Given the description of an element on the screen output the (x, y) to click on. 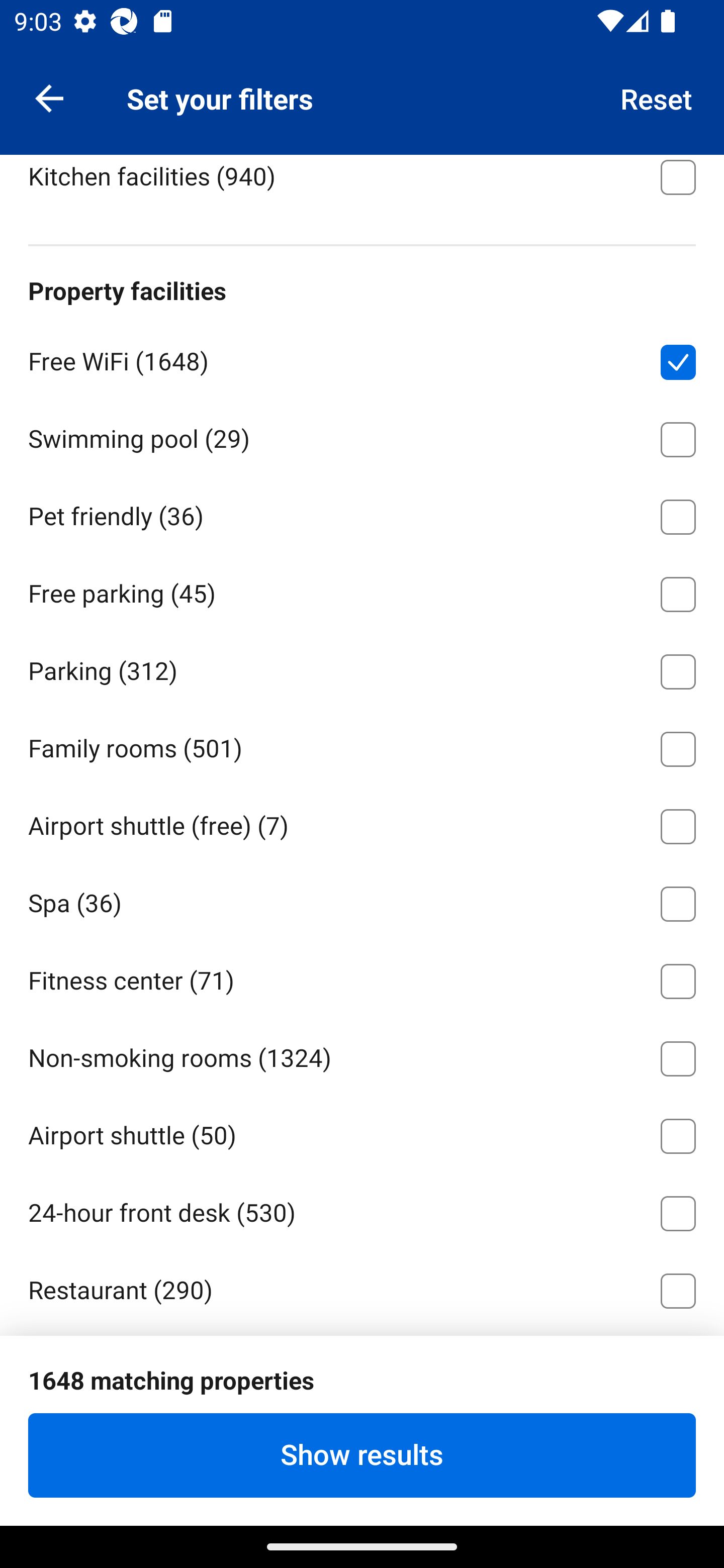
Navigate up (49, 97)
Breakfast & dinner included ⁦(9) (361, 96)
Reset (656, 97)
Kitchen facilities ⁦(940) (361, 185)
Free WiFi ⁦(1648) (361, 358)
Swimming pool ⁦(29) (361, 436)
Pet friendly ⁦(36) (361, 513)
Free parking ⁦(45) (361, 590)
Parking ⁦(312) (361, 668)
Family rooms ⁦(501) (361, 745)
Airport shuttle (free) ⁦(7) (361, 823)
Spa ⁦(36) (361, 900)
Fitness center ⁦(71) (361, 977)
Non-smoking rooms ⁦(1324) (361, 1055)
Airport shuttle ⁦(50) (361, 1132)
24-hour front desk ⁦(530) (361, 1209)
Restaurant ⁦(290) (361, 1287)
Show results (361, 1454)
